Given the description of an element on the screen output the (x, y) to click on. 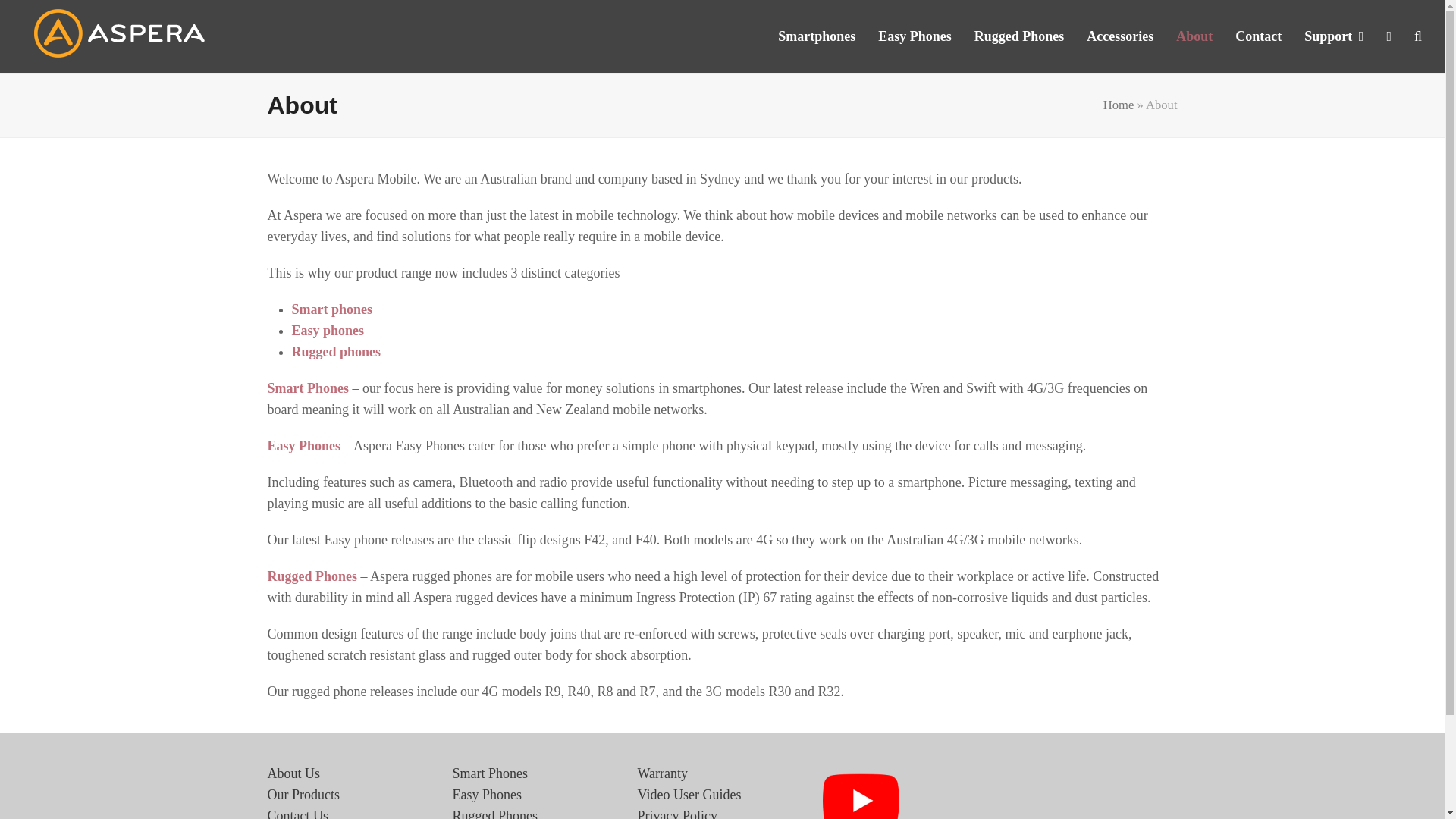
Rugged Phones (311, 575)
About Aspera Mobile (293, 773)
Accessories (1119, 36)
Easy Phones (914, 36)
Video User Guides (689, 794)
Home (1118, 104)
About Us (293, 773)
Aspera Easy Phones (486, 794)
Our Products (302, 794)
Easy phones (327, 330)
Privacy Policy (677, 813)
Rugged phones (335, 351)
Smart phones (331, 309)
Rugged Phones (1018, 36)
Rugged Phones (494, 813)
